Given the description of an element on the screen output the (x, y) to click on. 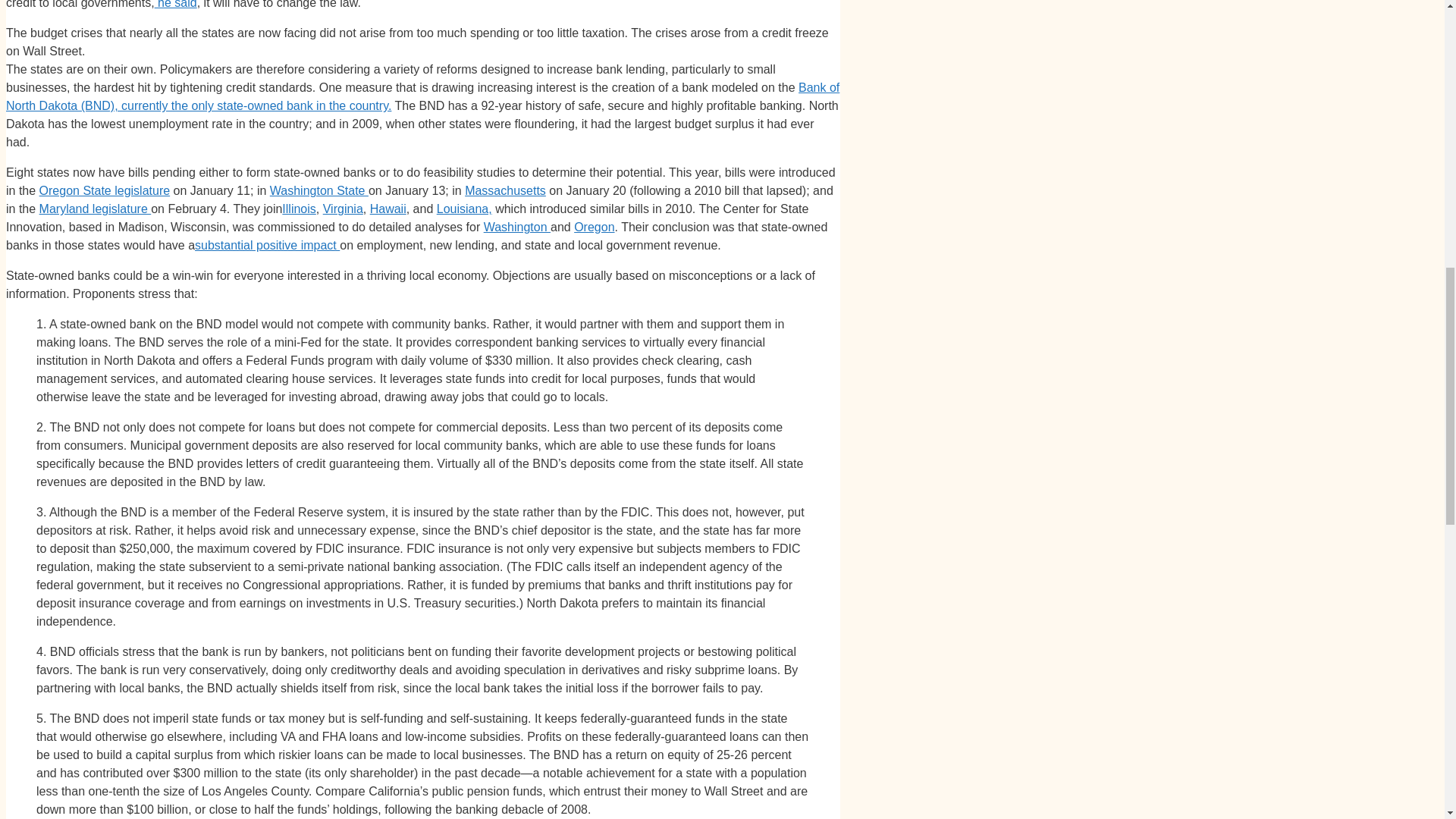
substantial positive impact  (267, 245)
Maryland legislature  (95, 208)
Washington  (516, 226)
Oregon (593, 226)
Massachusetts (505, 190)
Washington State  (318, 190)
Louisiana, (464, 208)
Illinois (298, 208)
Hawaii (387, 208)
Oregon State legislature (104, 190)
